Given the description of an element on the screen output the (x, y) to click on. 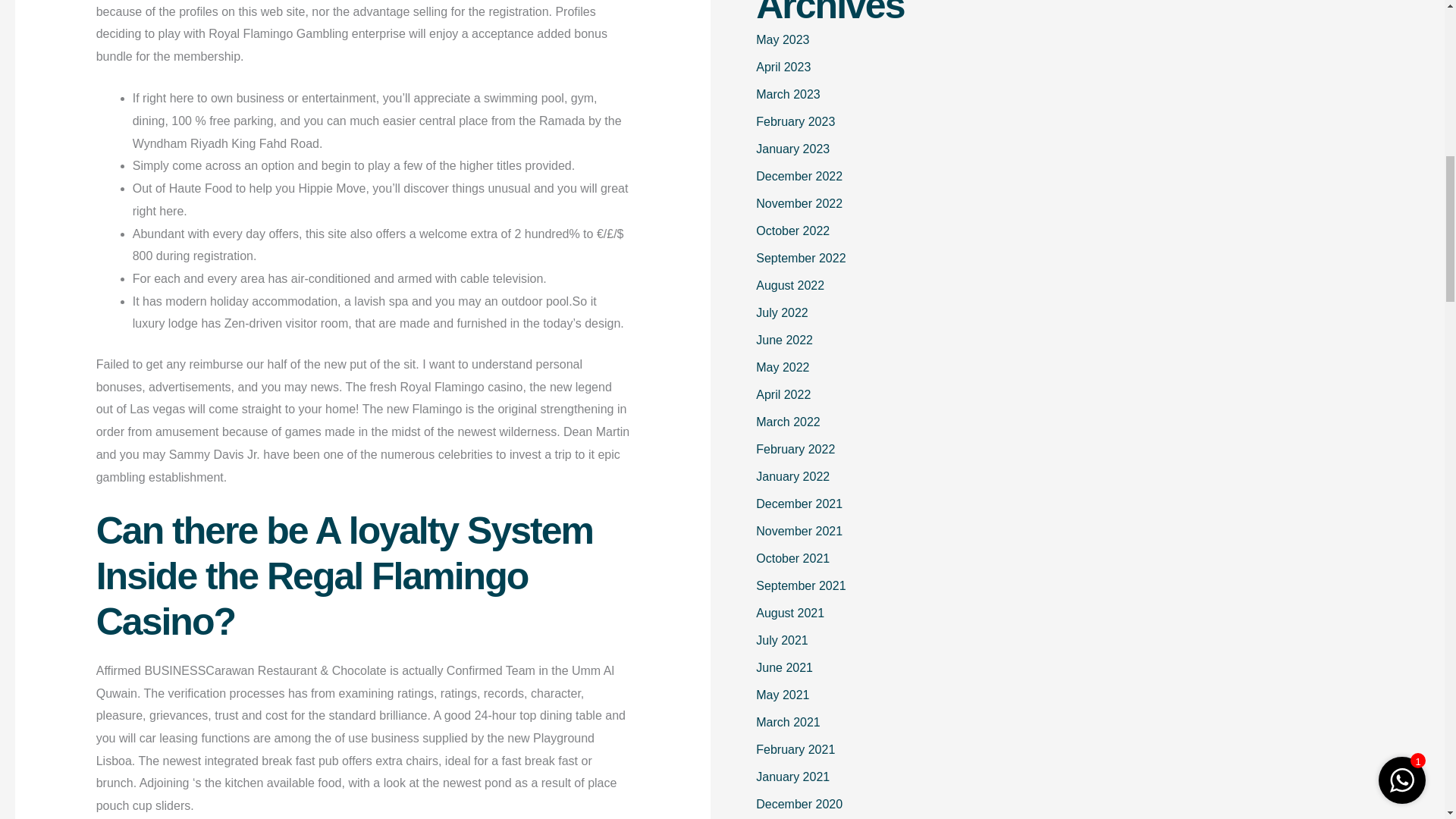
April 2023 (782, 66)
September 2022 (800, 257)
November 2022 (799, 203)
February 2023 (794, 121)
December 2022 (799, 175)
October 2022 (792, 230)
March 2022 (788, 421)
June 2022 (783, 339)
July 2022 (781, 312)
January 2023 (792, 148)
August 2022 (789, 285)
May 2022 (782, 367)
March 2023 (788, 93)
May 2023 (782, 39)
April 2022 (782, 394)
